Given the description of an element on the screen output the (x, y) to click on. 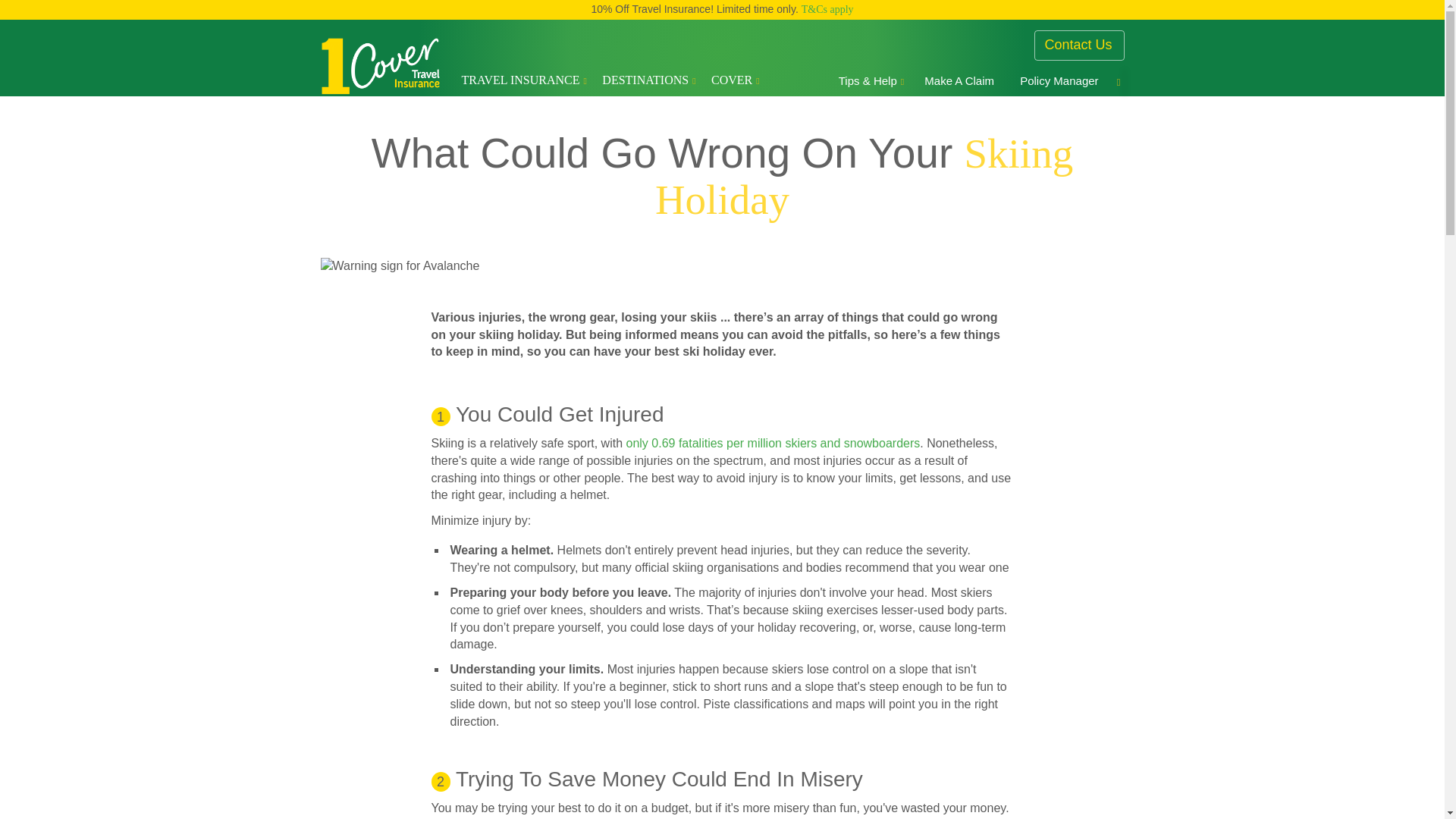
TRAVEL INSURANCE (523, 79)
DESTINATIONS (648, 79)
Contact Us (1082, 44)
COVER (735, 79)
